Given the description of an element on the screen output the (x, y) to click on. 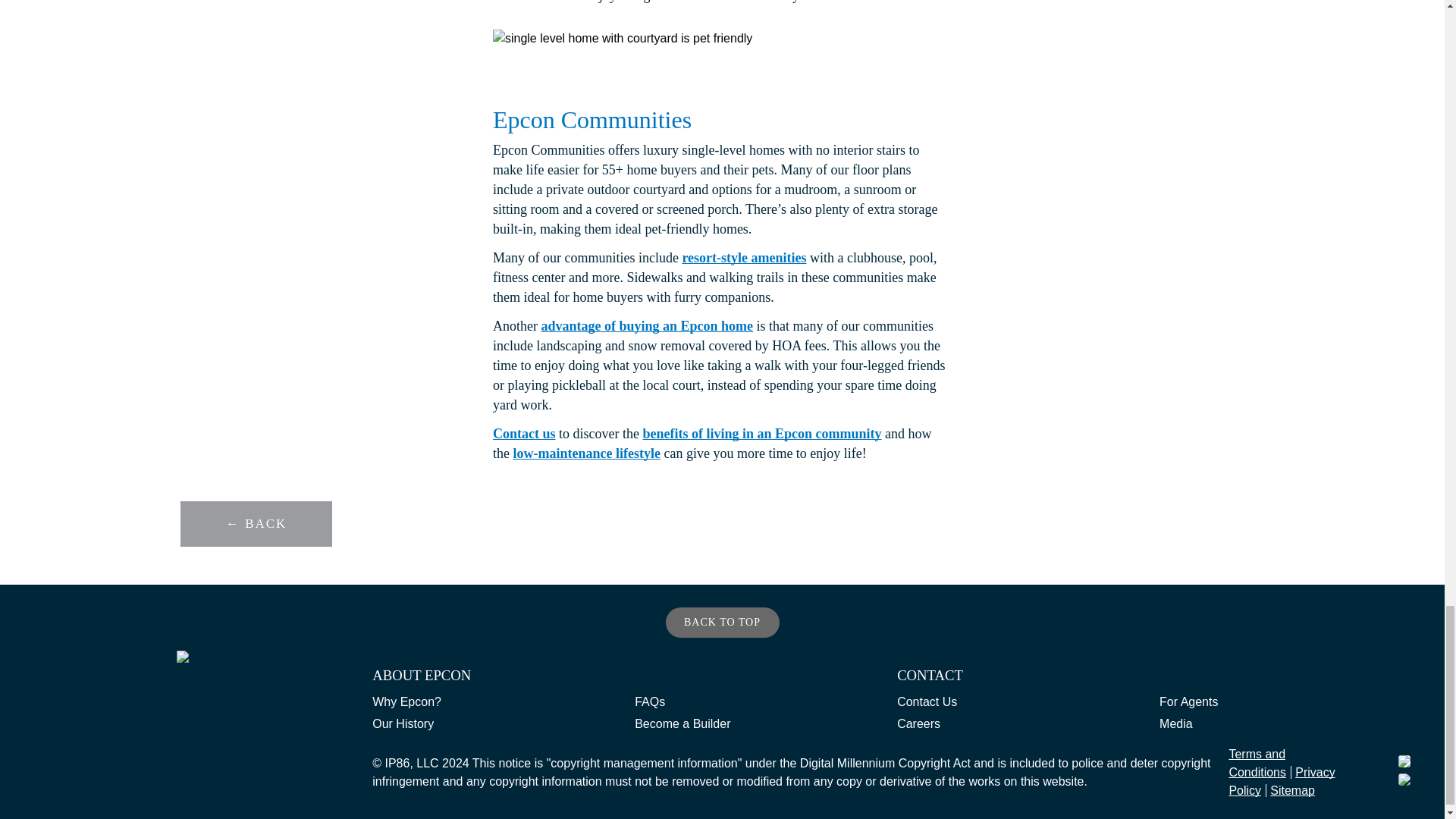
Our History (402, 725)
Careers (918, 725)
Contact Us (926, 703)
For Agents (1187, 703)
BACK TO TOP (721, 622)
Sitemap (1292, 789)
low-maintenance lifestyle (585, 453)
resort-style amenities (743, 257)
FAQs (649, 703)
advantage of buying an Epcon home (646, 325)
